Given the description of an element on the screen output the (x, y) to click on. 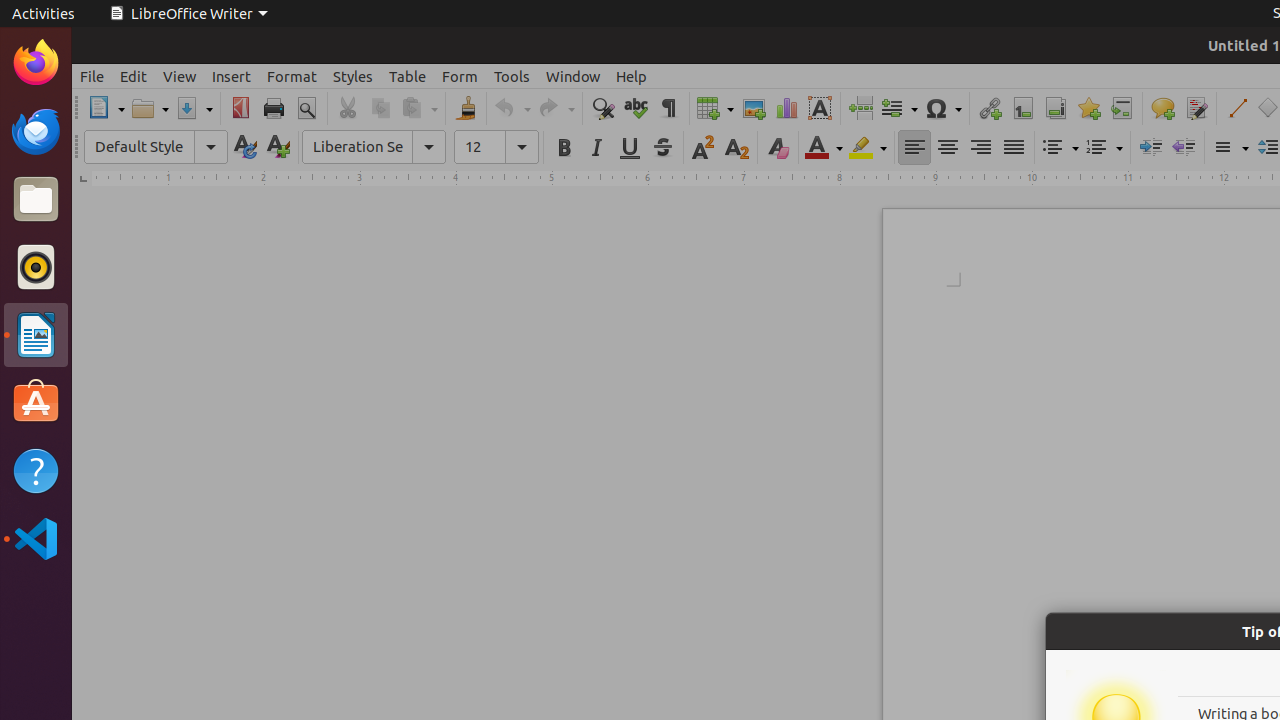
li.txt Element type: label (259, 89)
Activities Element type: label (43, 13)
